Given the description of an element on the screen output the (x, y) to click on. 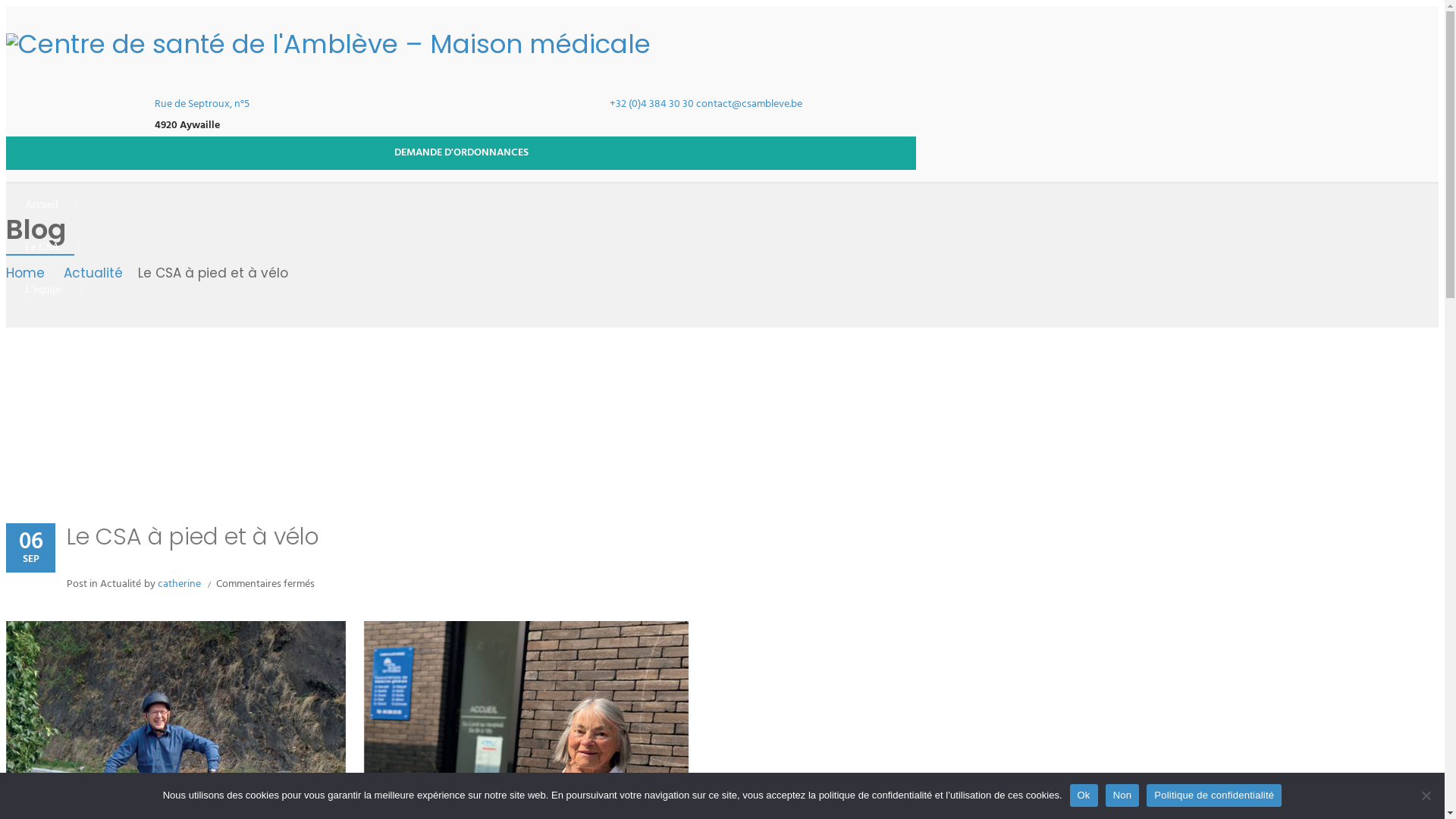
Ok Element type: text (1083, 795)
Twitter Element type: hover (816, 492)
Non Element type: hover (1425, 795)
Liens utiles Element type: text (49, 458)
Accueil Element type: text (41, 204)
Contact Element type: text (41, 416)
Actu Element type: text (35, 373)
contact@csambleve.be Element type: text (749, 103)
Home Element type: text (29, 273)
Facebook Element type: hover (793, 492)
+32 (0)4 384 30 30 Element type: text (651, 103)
Le CSA Element type: text (42, 246)
DEMANDE D'ORDONNANCES Element type: text (461, 152)
Youtube Element type: hover (839, 492)
En pratique Element type: text (49, 331)
Non Element type: text (1122, 795)
Instagram Element type: hover (861, 492)
